Given the description of an element on the screen output the (x, y) to click on. 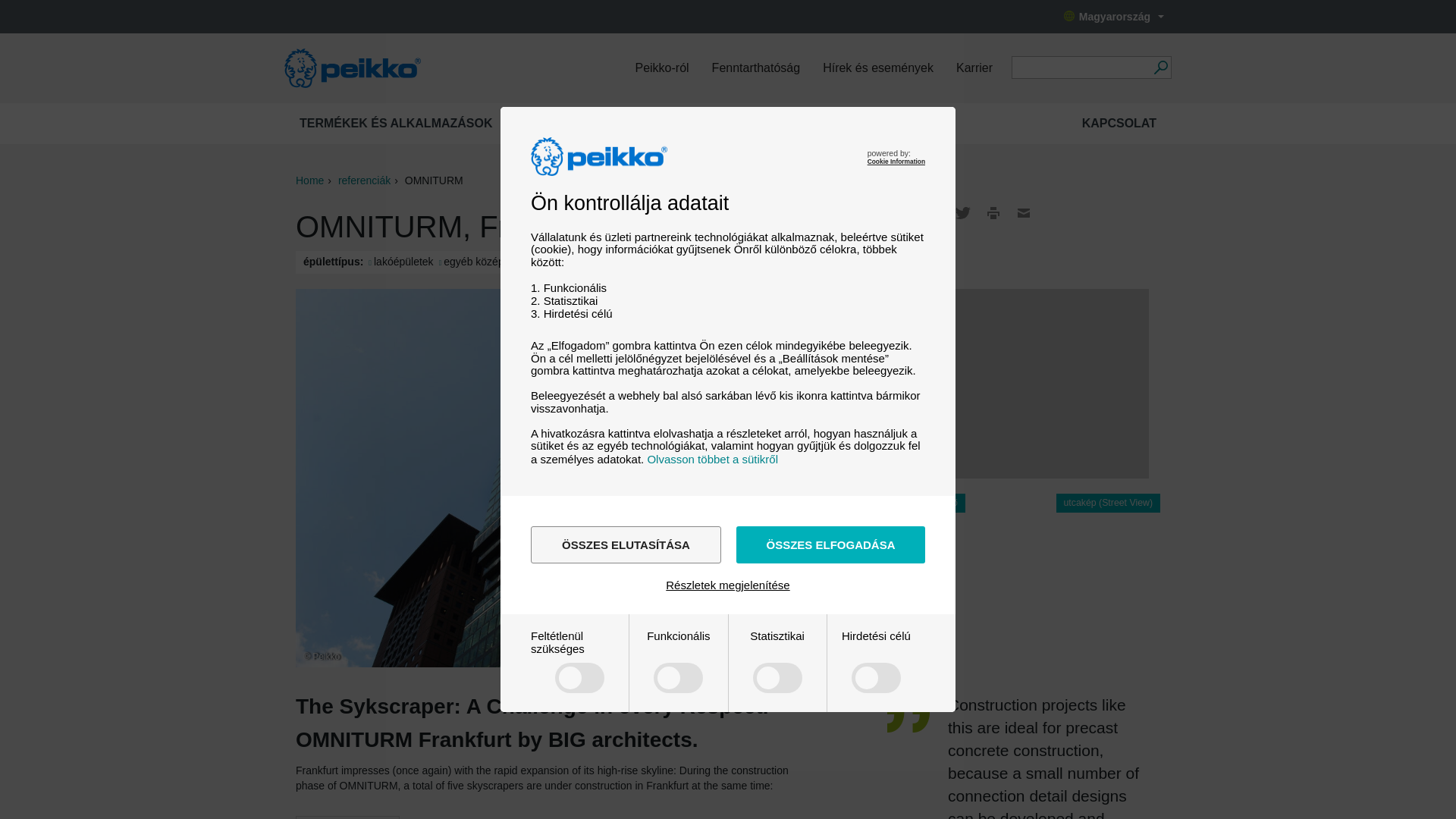
Email link (1023, 212)
Cookie Information (895, 161)
